Given the description of an element on the screen output the (x, y) to click on. 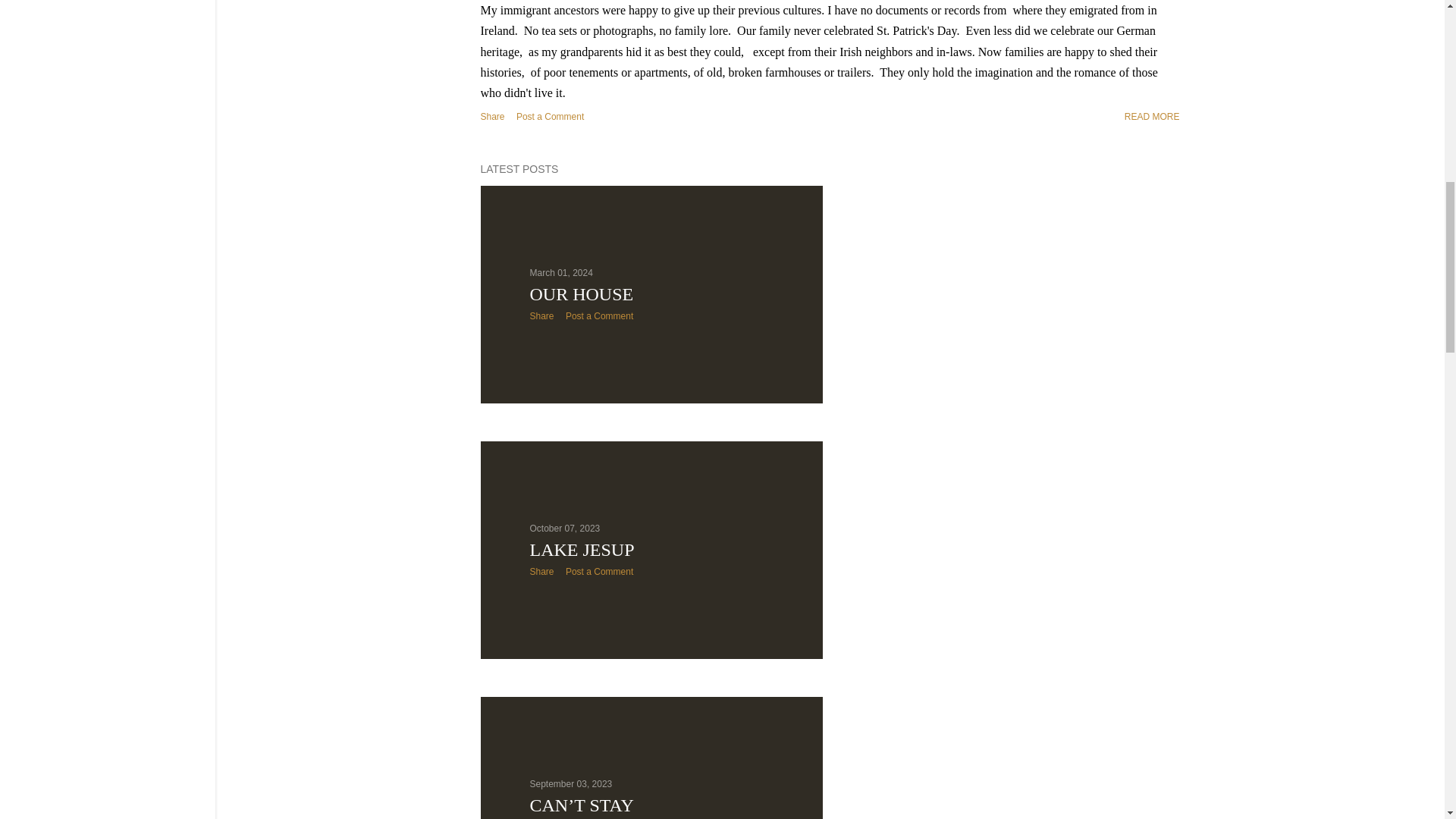
Post a Comment (549, 116)
LAKE JESUP (581, 549)
Ancestors (1151, 116)
OUR HOUSE (581, 293)
Share (541, 316)
READ MORE (1151, 116)
Share (492, 116)
October 07, 2023 (564, 528)
permanent link (560, 272)
September 03, 2023 (570, 783)
Post a Comment (599, 571)
Post a Comment (599, 316)
March 01, 2024 (560, 272)
Share (541, 571)
